Given the description of an element on the screen output the (x, y) to click on. 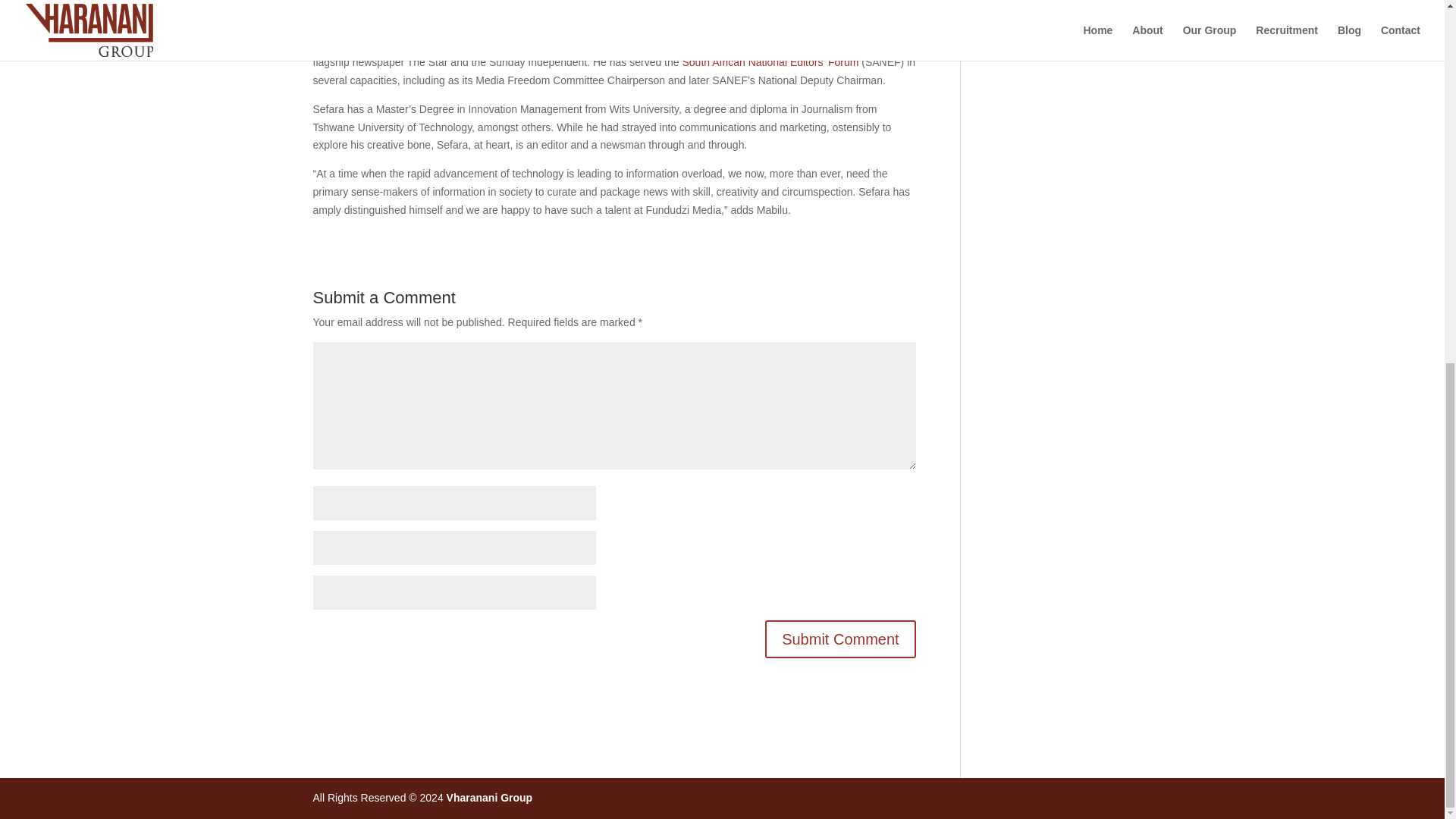
Vharanani Group (489, 797)
Submit Comment (840, 638)
Submit Comment (840, 638)
Standard Bank Sikuvile Editor of the Year in 2014 (556, 43)
